Given the description of an element on the screen output the (x, y) to click on. 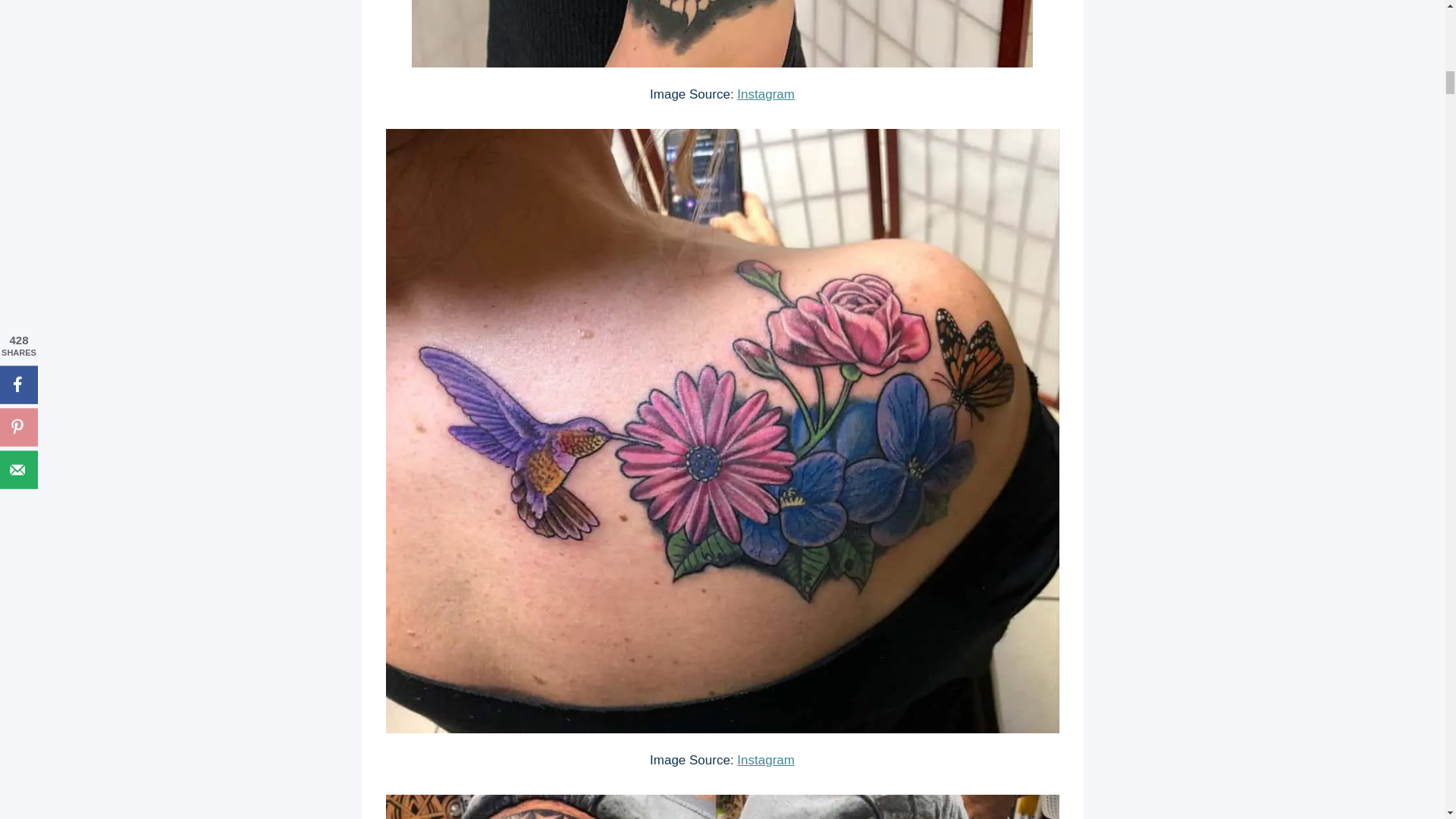
Instagram (765, 93)
Instagram (765, 759)
